Given the description of an element on the screen output the (x, y) to click on. 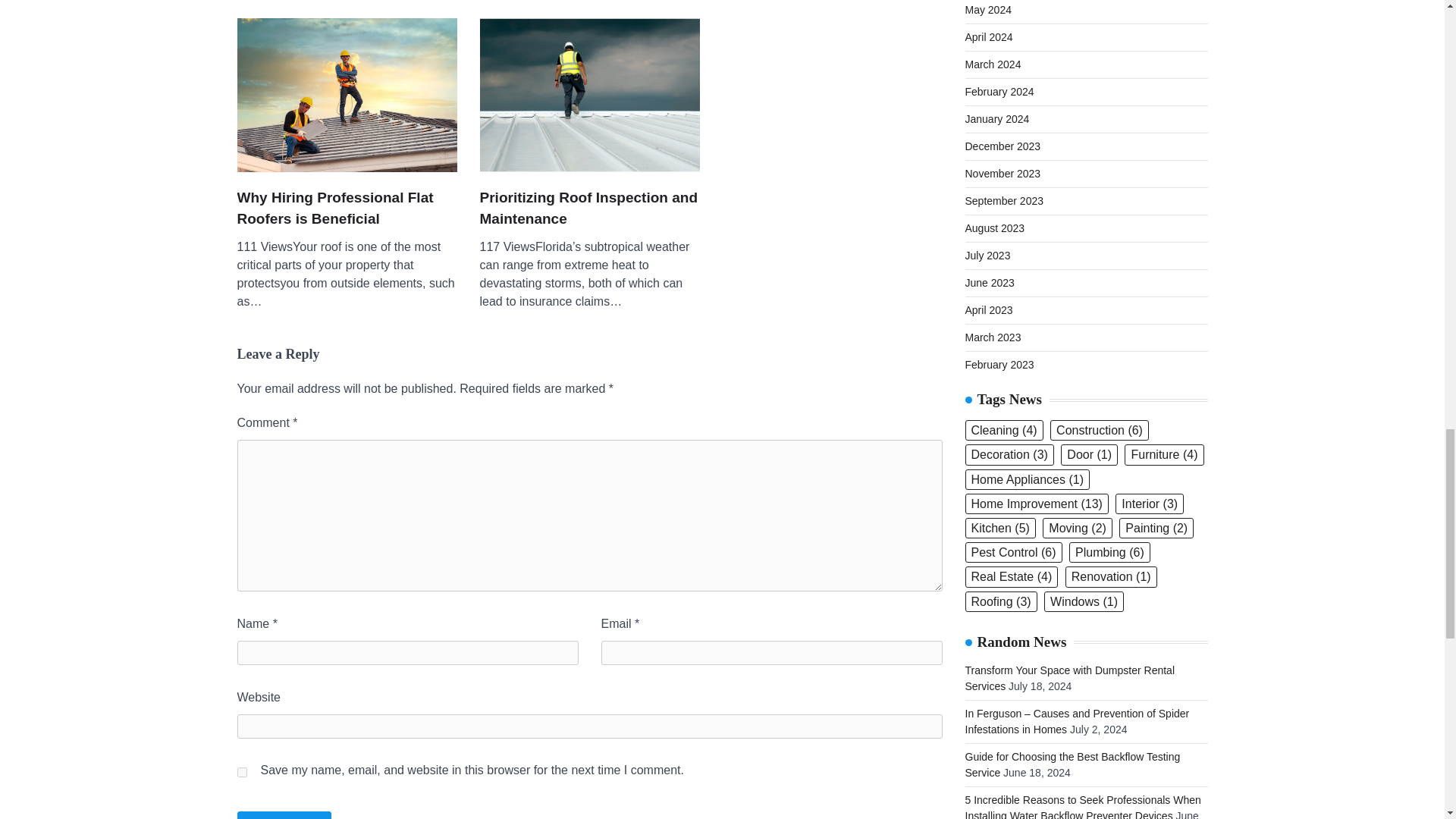
yes (240, 772)
Post Comment (283, 815)
Why Hiring Professional Flat Roofers is Beneficial (346, 208)
